Given the description of an element on the screen output the (x, y) to click on. 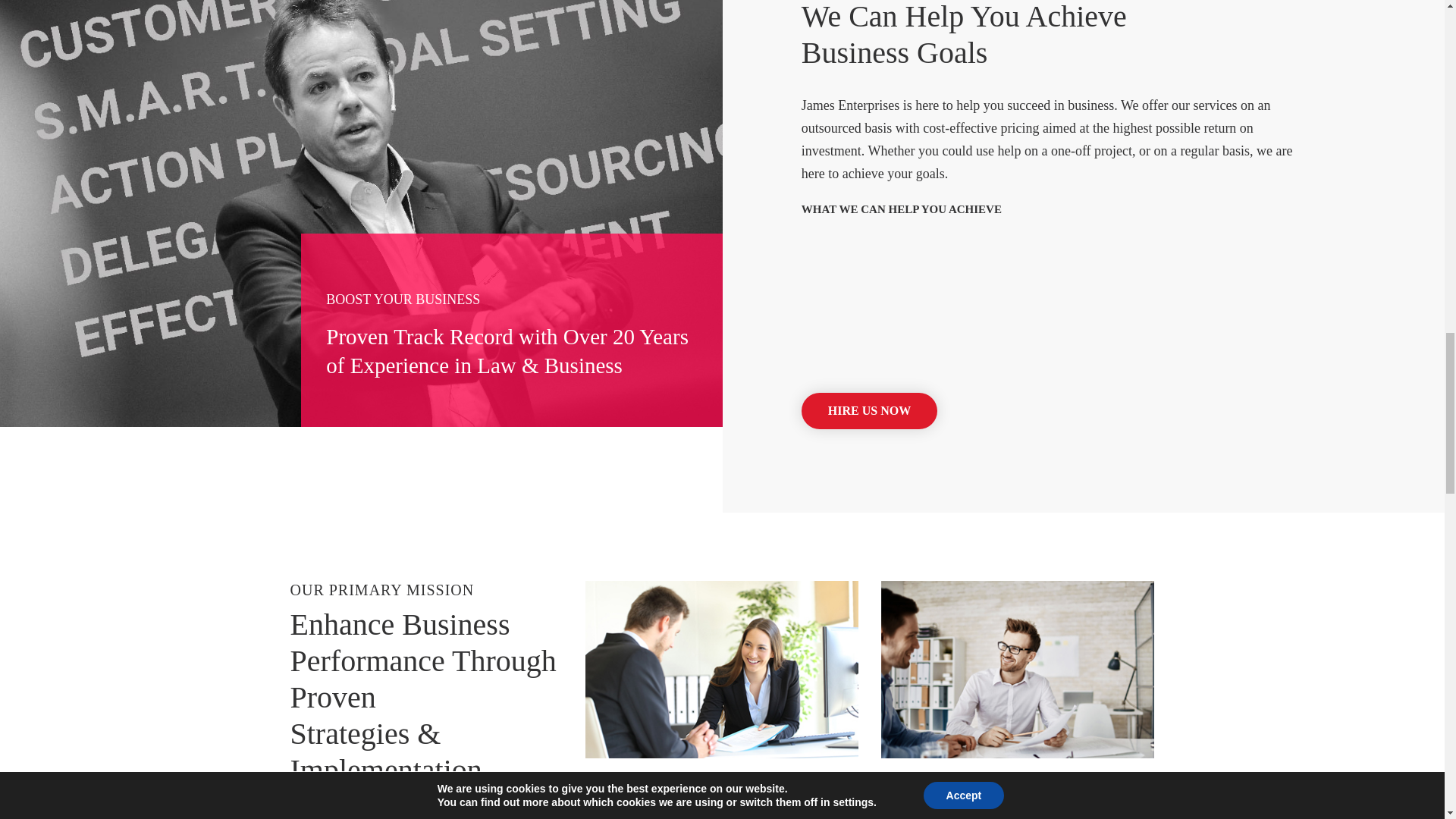
HIRE US NOW (869, 411)
